Given the description of an element on the screen output the (x, y) to click on. 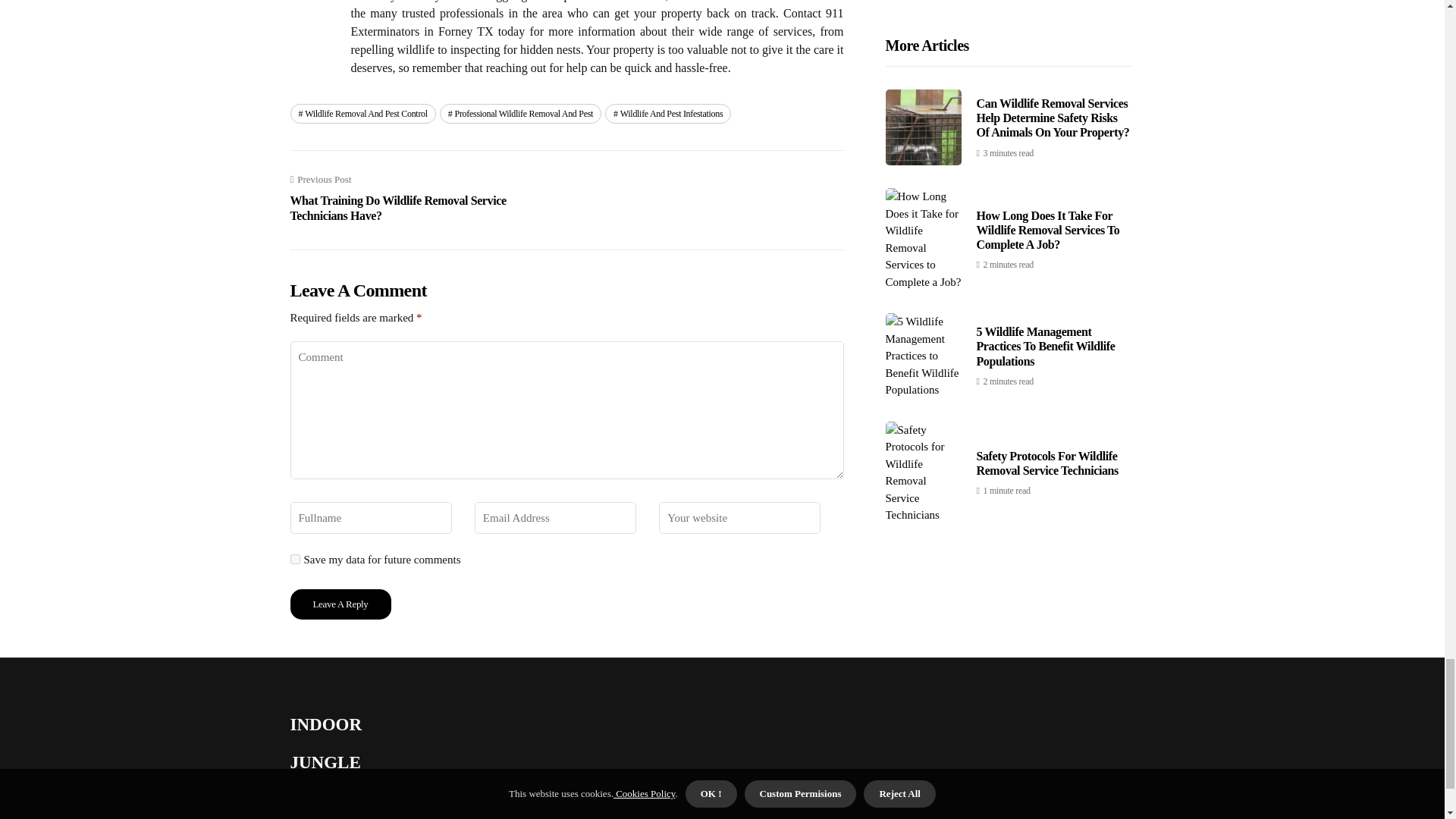
yes (294, 559)
Professional Wildlife Removal And Pest (520, 113)
Wildlife Removal And Pest Control (362, 113)
Wildlife And Pest Infestations (667, 113)
Leave a Reply (339, 603)
Leave a Reply (339, 603)
